Given the description of an element on the screen output the (x, y) to click on. 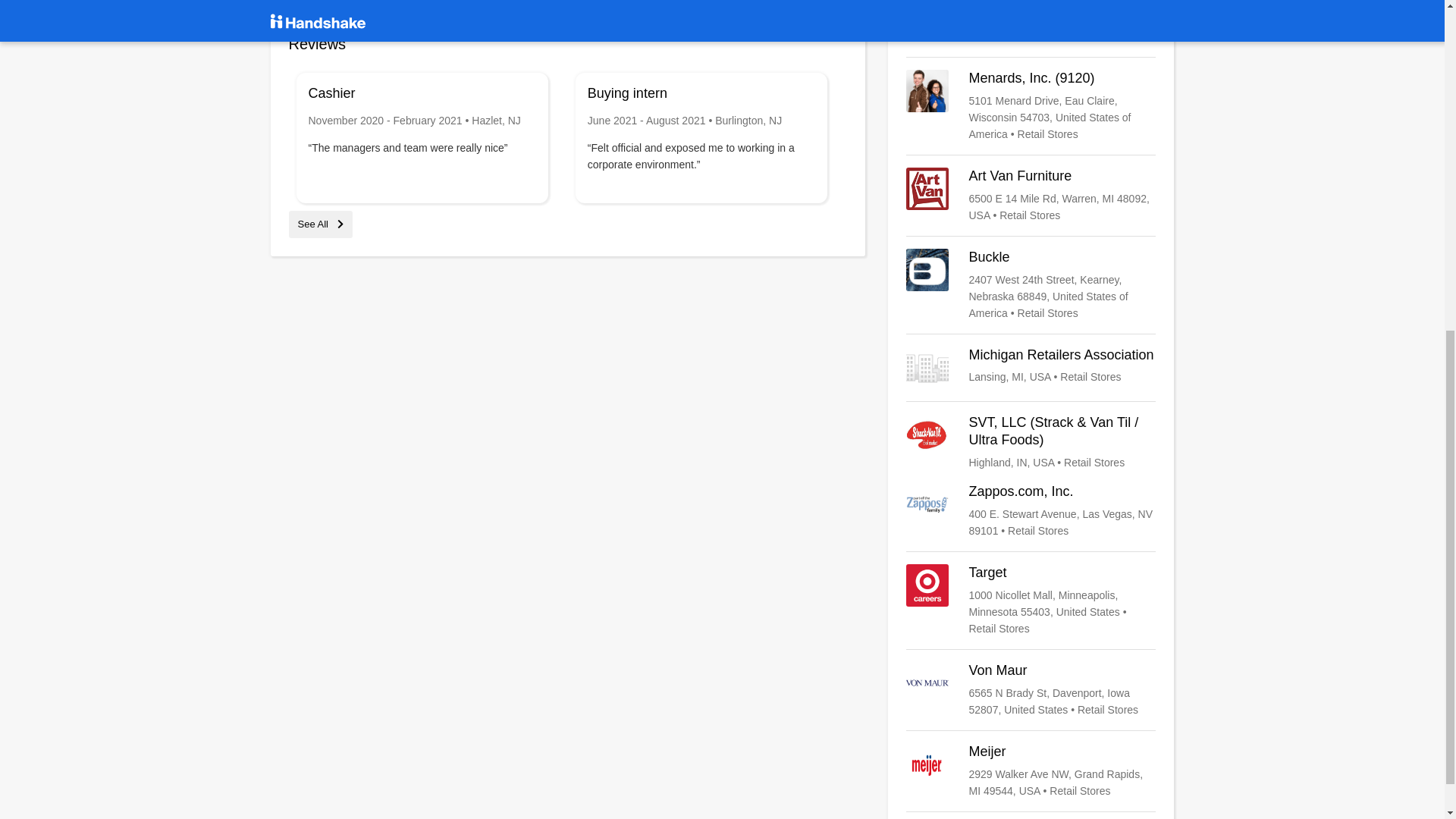
Target (1030, 600)
Michigan Retailers Association (1030, 367)
Von Maur (1030, 689)
Art Van Furniture (1030, 195)
See All (320, 224)
Zappos.com, Inc. (1030, 510)
Meijer (1030, 770)
Buckle (1030, 284)
Moosejaw (1030, 22)
